Given the description of an element on the screen output the (x, y) to click on. 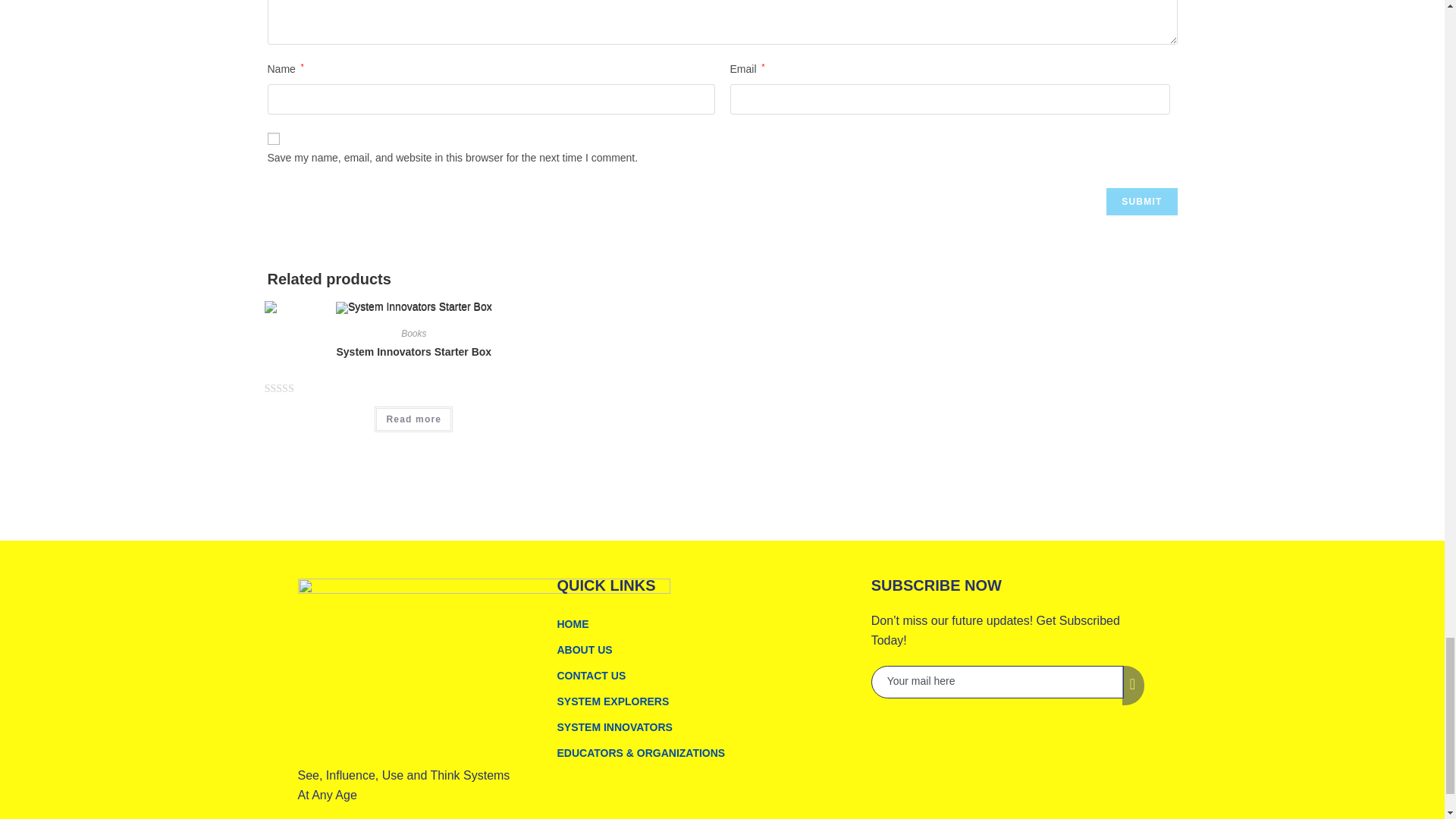
SYSTEM INNOVATORS (706, 727)
yes (272, 138)
HOME (706, 623)
CONTACT US (706, 675)
Read more (413, 419)
System Innovators Starter Box (414, 351)
Submit (1141, 201)
ABOUT US (706, 649)
SYSTEM EXPLORERS (706, 701)
Books (413, 333)
Submit (1141, 201)
